Given the description of an element on the screen output the (x, y) to click on. 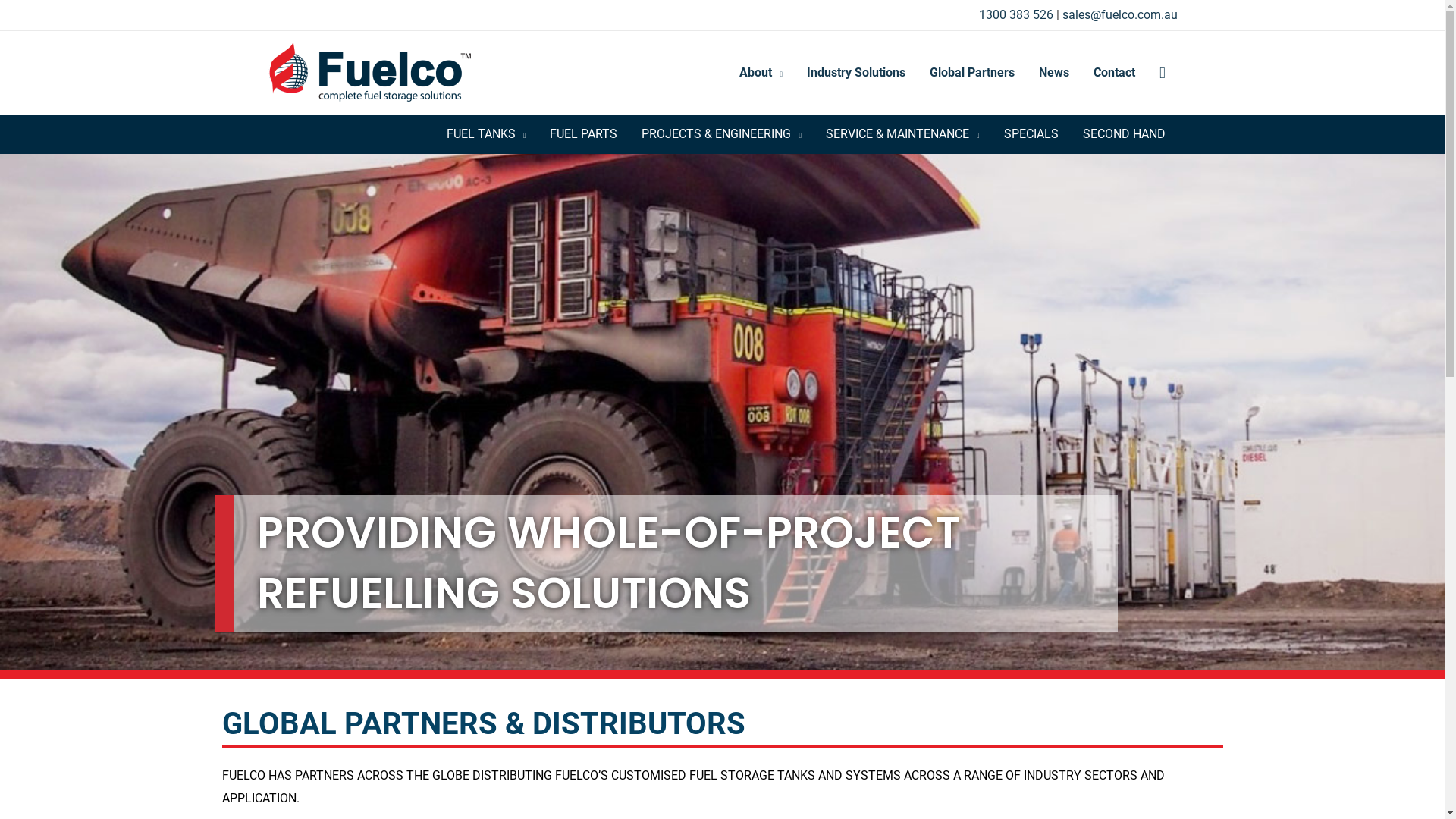
Global Partners Element type: text (971, 72)
FUEL TANKS Element type: text (486, 133)
sales@fuelco.com.au Element type: text (1118, 14)
Industry Solutions Element type: text (855, 72)
SPECIALS Element type: text (1030, 133)
News Element type: text (1053, 72)
1300 383 526 Element type: text (1016, 14)
Contact Element type: text (1114, 72)
About Element type: text (760, 72)
FUEL PARTS Element type: text (583, 133)
SECOND HAND Element type: text (1123, 133)
PROJECTS & ENGINEERING Element type: text (721, 133)
SERVICE & MAINTENANCE Element type: text (902, 133)
